Given the description of an element on the screen output the (x, y) to click on. 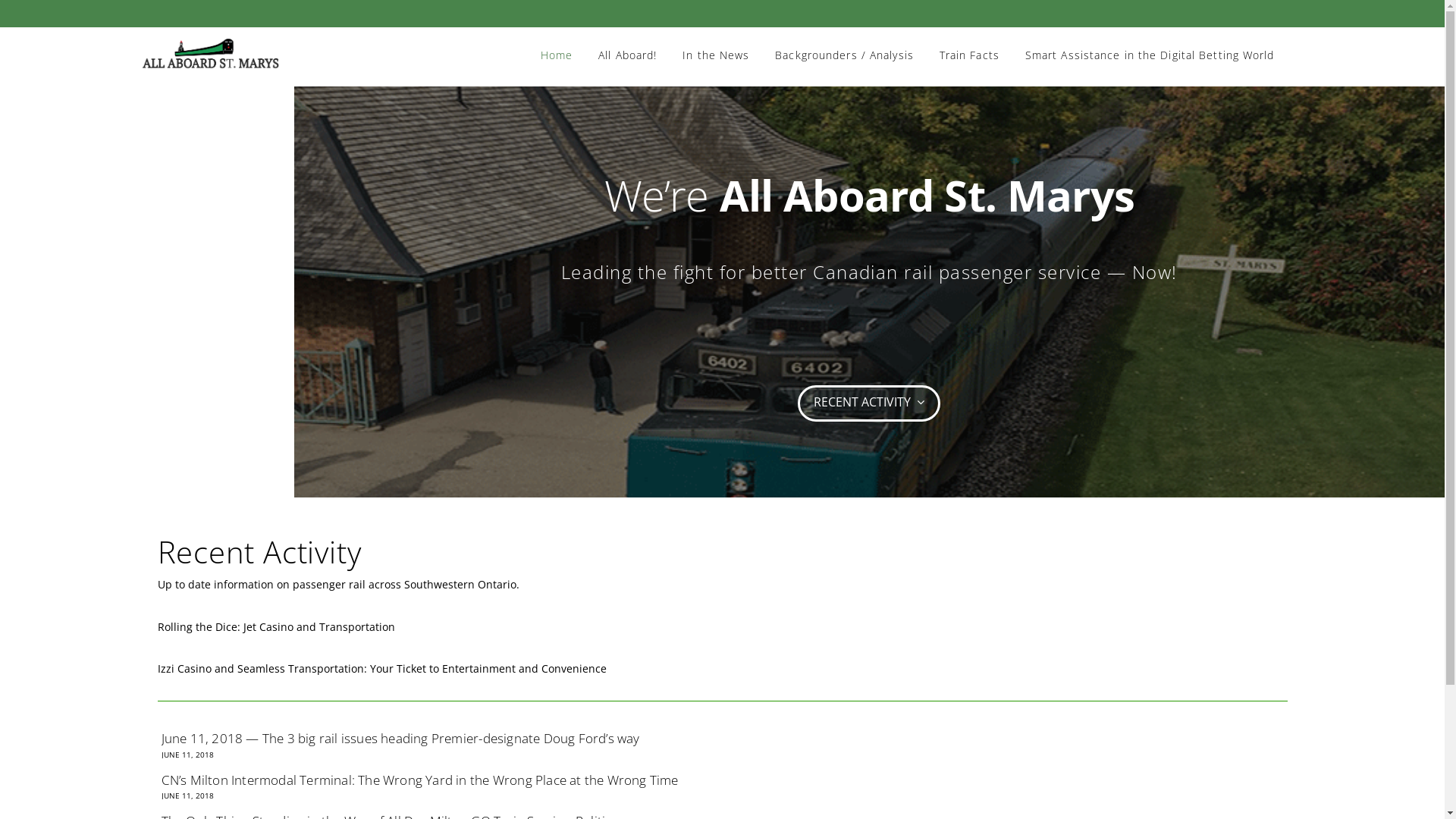
Home Element type: text (556, 42)
Rolling the Dice: Jet Casino and Transportation Element type: text (276, 626)
Smart Assistance in the Digital Betting World Element type: text (1149, 42)
Backgrounders / Analysis Element type: text (843, 42)
RECENT ACTIVITY Element type: text (868, 403)
Train Facts Element type: text (969, 42)
In the News Element type: text (715, 42)
All Aboard! Element type: text (627, 42)
